Given the description of an element on the screen output the (x, y) to click on. 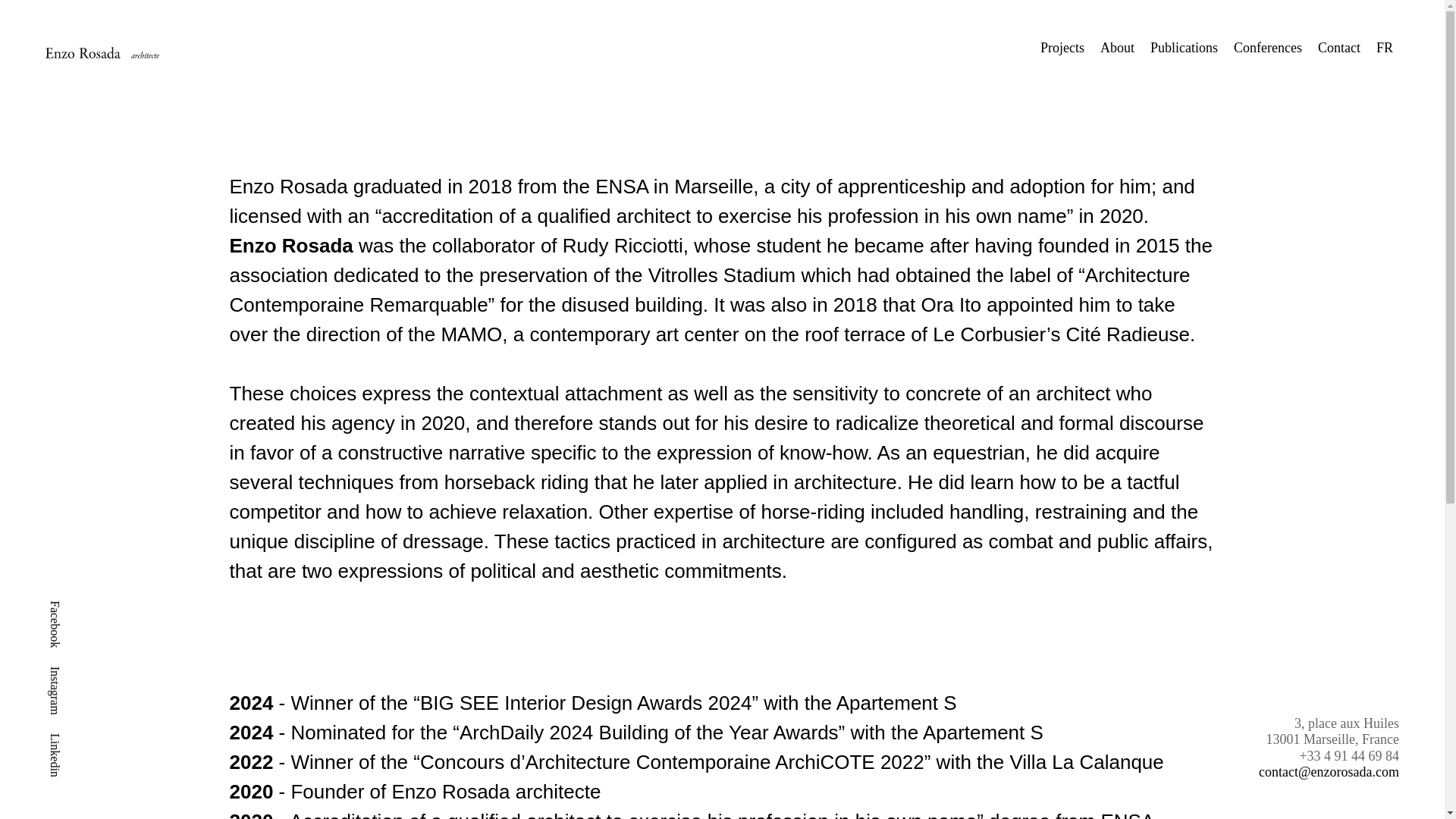
About (1117, 47)
Facebook (72, 607)
Conferences (1267, 47)
Projects (1062, 47)
Contact (1338, 47)
Publications (1183, 47)
Linkedin (70, 739)
Instagram (72, 672)
enzorosada.com (241, 46)
